Given the description of an element on the screen output the (x, y) to click on. 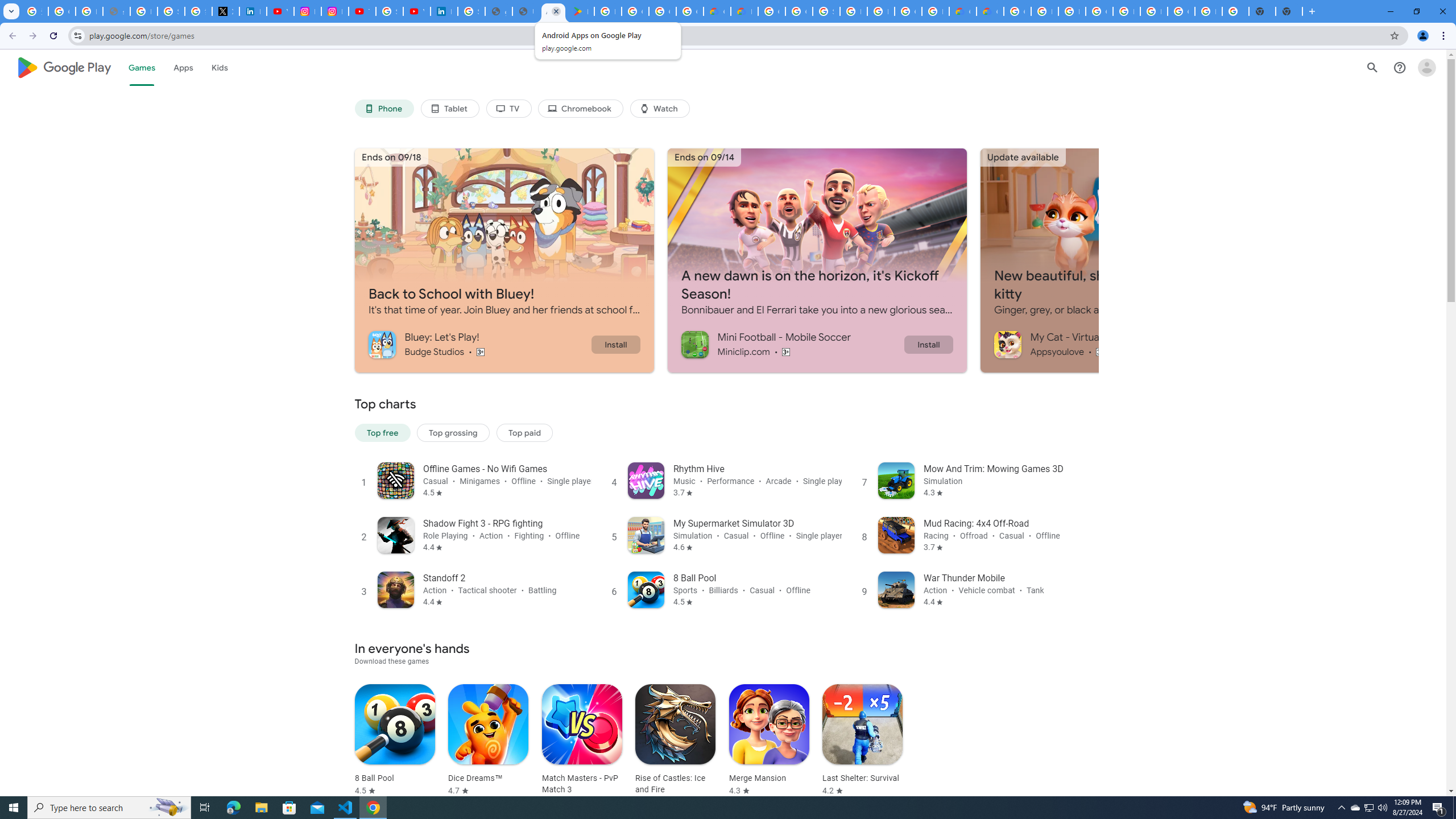
PAW Patrol Rescue World - Apps on Google Play (580, 11)
Sign in - Google Accounts (389, 11)
Games (141, 67)
TV (508, 108)
Address and search bar (735, 35)
Top grossing (452, 432)
Customer Care | Google Cloud (716, 11)
